Given the description of an element on the screen output the (x, y) to click on. 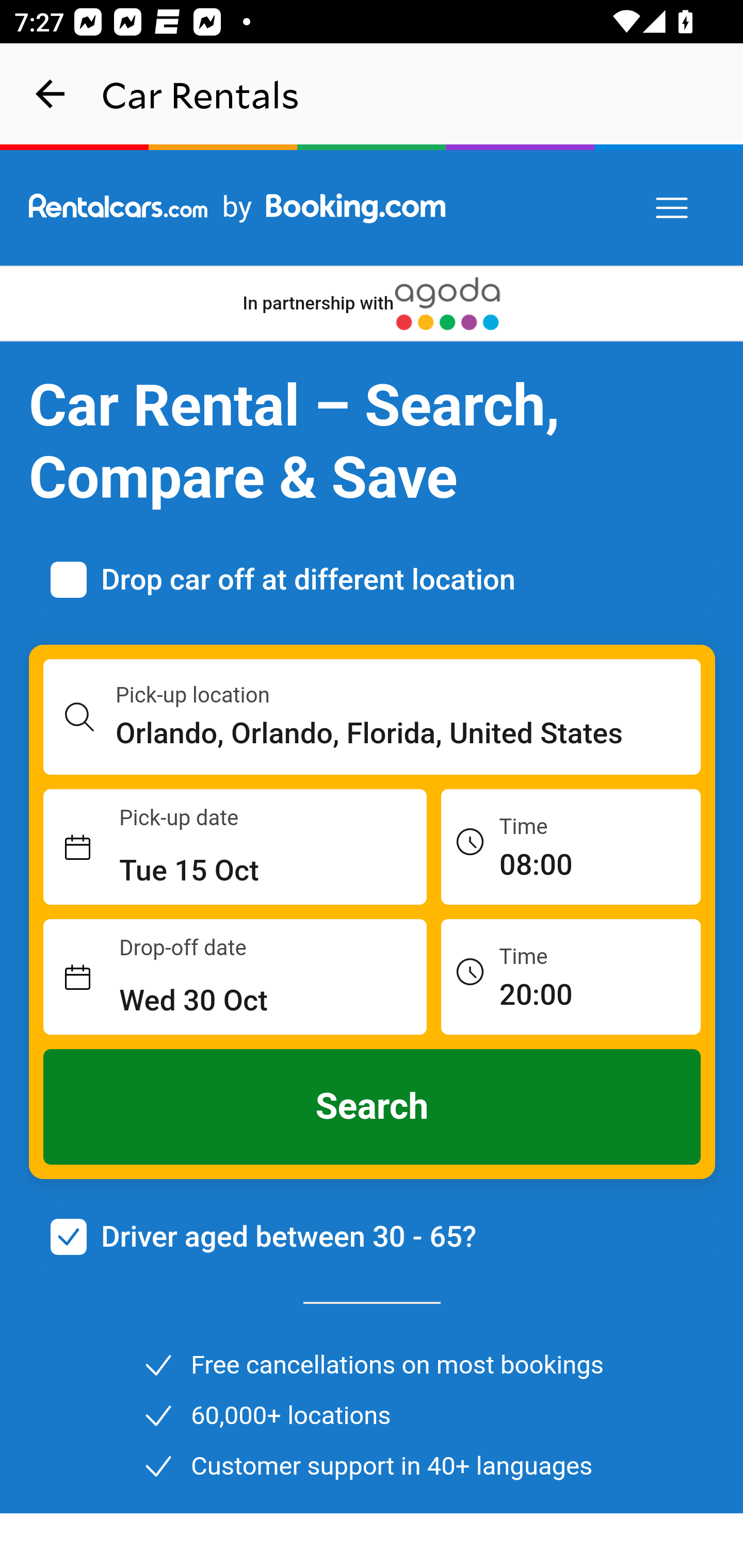
navigation_button (50, 93)
Menu (672, 208)
Orlando, Orlando, Florida, United States (408, 733)
Pick-up date Tue 15 Oct (235, 847)
08:00 (571, 845)
Drop-off date Wed 30 Oct (235, 977)
20:00 (571, 975)
Search (372, 1106)
